Given the description of an element on the screen output the (x, y) to click on. 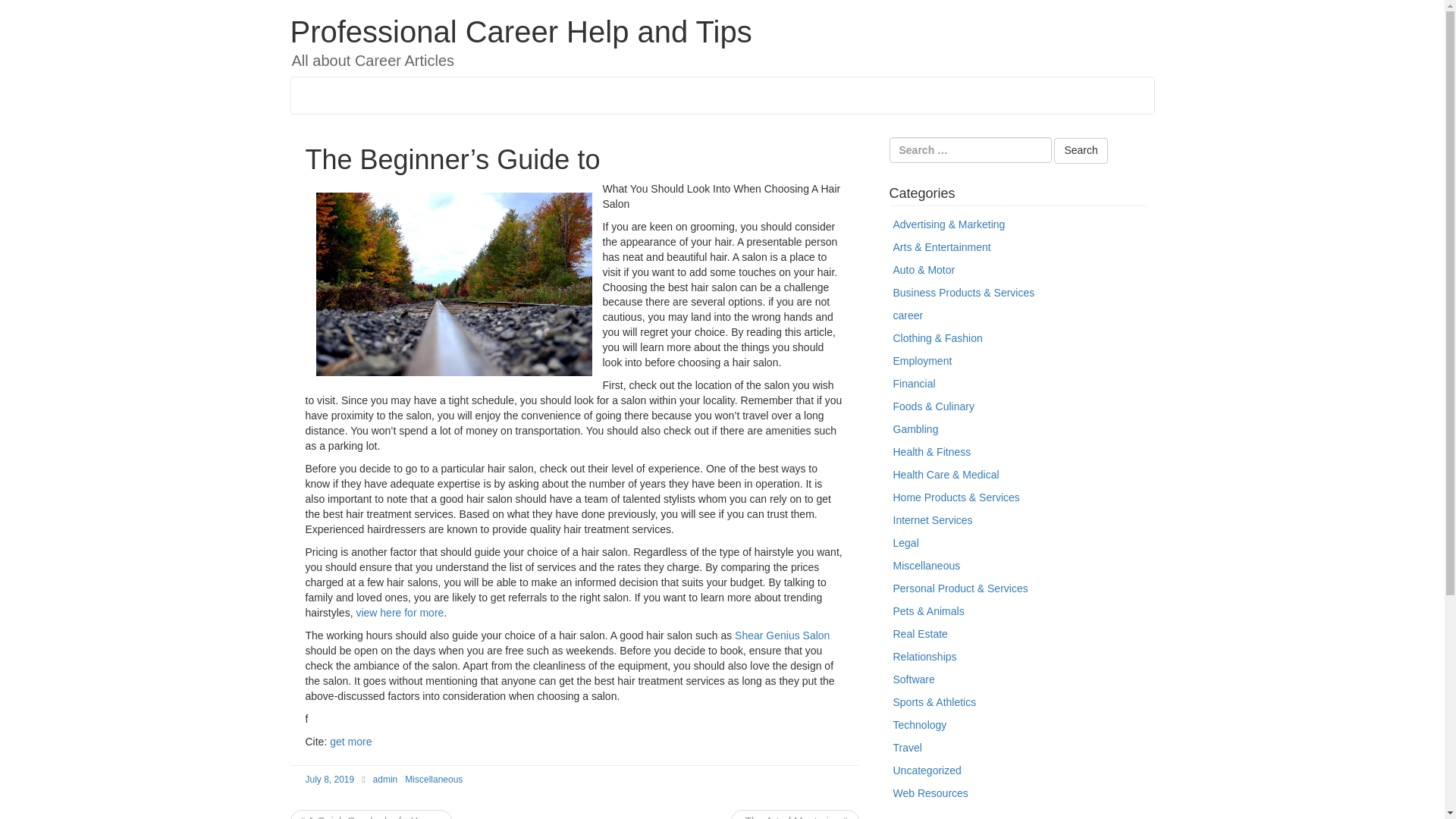
Uncategorized (926, 770)
Relationships (924, 656)
Professional Career Help and Tips (520, 31)
Internet Services (932, 520)
July 8, 2019 (328, 778)
 A Quick Overlook of - Your... (371, 816)
Search for: (969, 149)
Financial (914, 383)
Travel (907, 747)
Miscellaneous (433, 778)
